Given the description of an element on the screen output the (x, y) to click on. 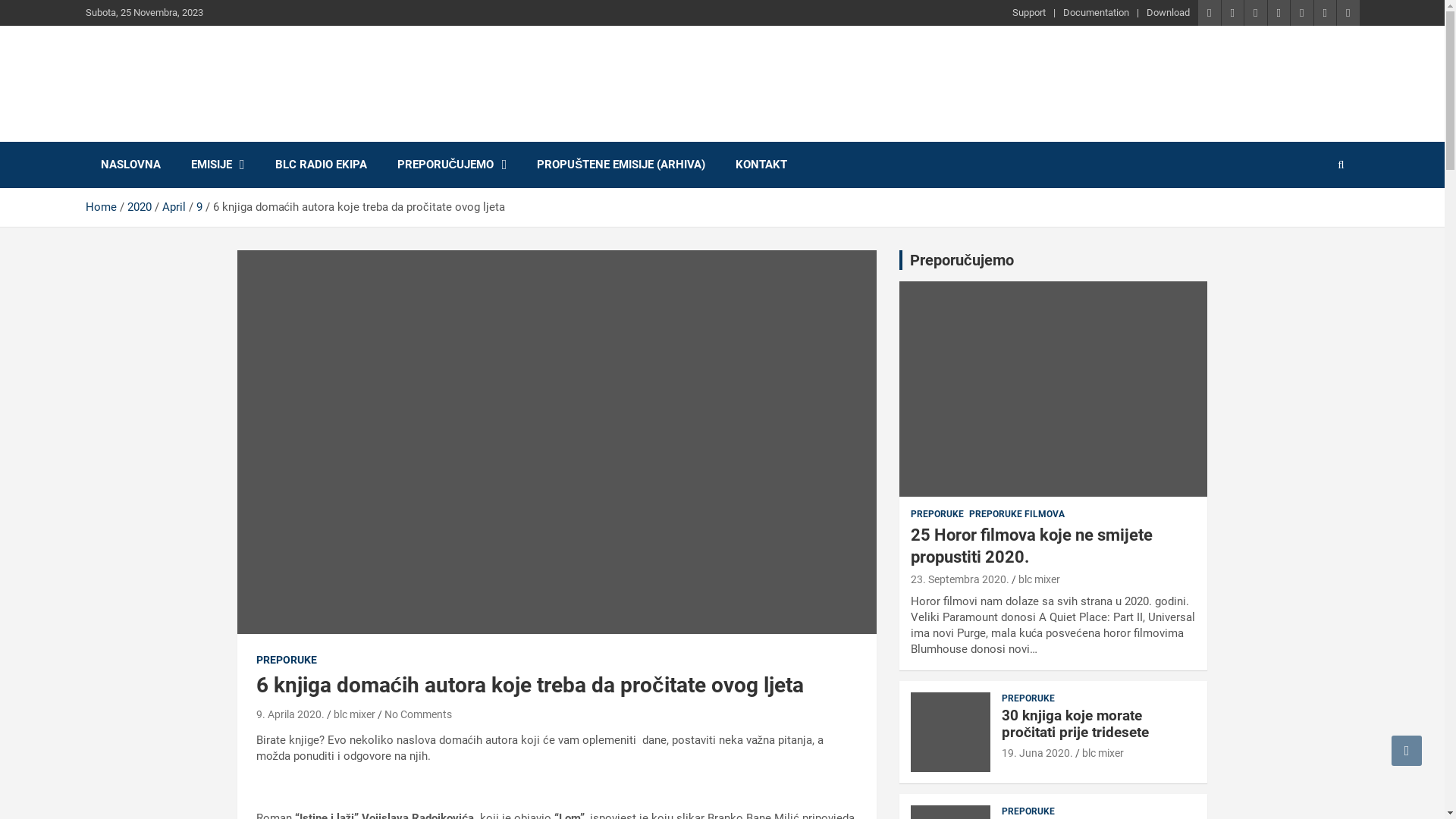
PREPORUKE Element type: text (936, 514)
PREPORUKE Element type: text (286, 660)
19. Juna 2020. Element type: text (1037, 752)
blc mixer Element type: text (1039, 579)
BLC RADIO EKIPA Element type: text (320, 164)
Download Element type: text (1167, 12)
Skip to content Element type: text (0, 0)
April Element type: text (173, 206)
blc mixer Element type: text (1102, 752)
PREPORUKE Element type: text (1027, 811)
PREPORUKE FILMOVA Element type: text (1016, 514)
KONTAKT Element type: text (761, 164)
NASLOVNA Element type: text (129, 164)
9. Aprila 2020. Element type: text (290, 714)
Home Element type: text (100, 206)
PREPORUKE Element type: text (1027, 698)
Documentation Element type: text (1096, 12)
23. Septembra 2020. Element type: text (959, 579)
Go to Top Element type: hover (1406, 750)
Support Element type: text (1028, 12)
2020 Element type: text (139, 206)
blc mixer Element type: text (354, 714)
No Comments Element type: text (417, 714)
25 Horor filmova koje ne smijete propustiti 2020. Element type: text (1031, 545)
EMISIJE Element type: text (217, 164)
9 Element type: text (198, 206)
